Given the description of an element on the screen output the (x, y) to click on. 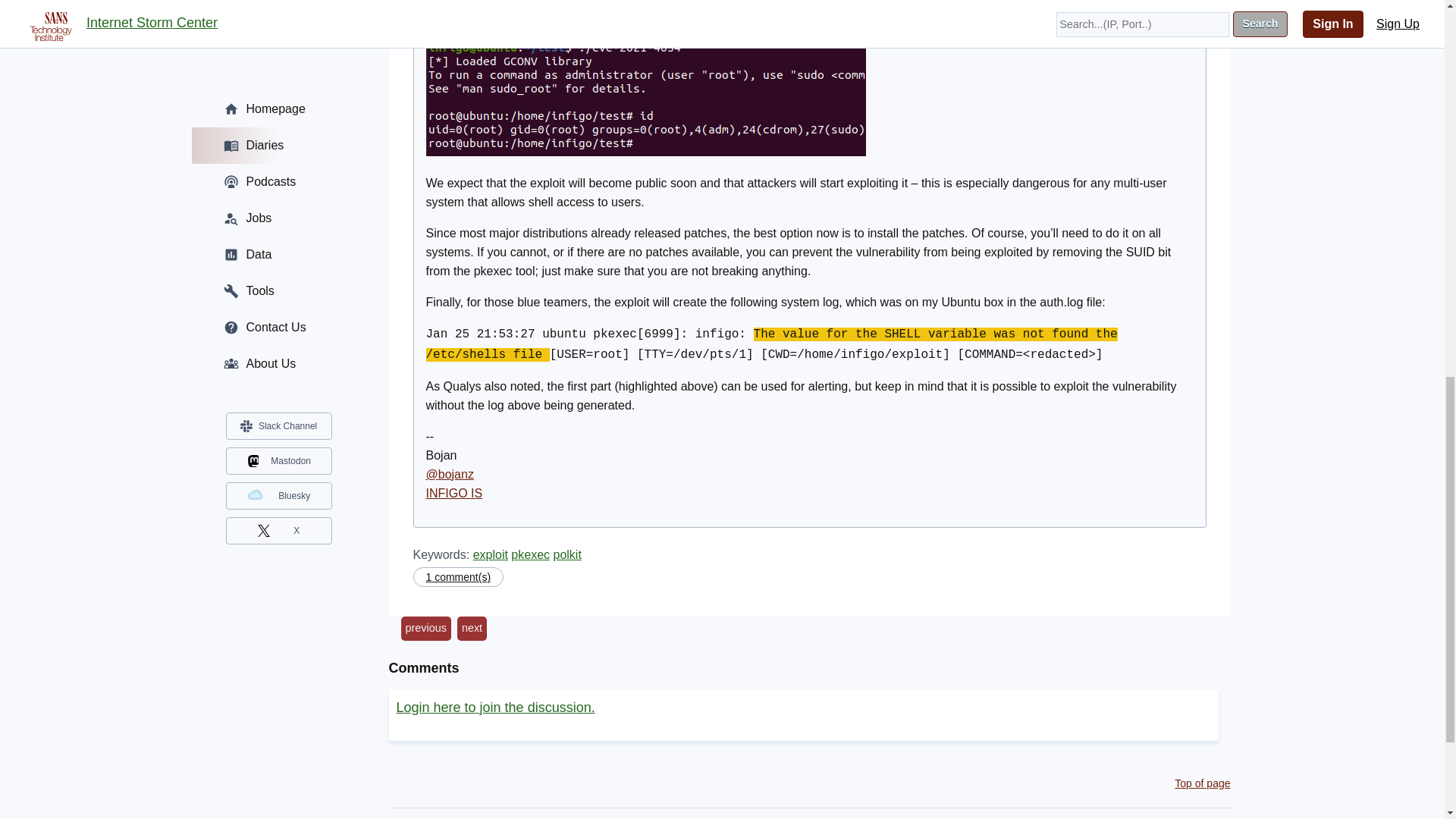
Top of page (1202, 783)
next (471, 628)
pkexec (530, 554)
Login here to join the discussion. (495, 707)
INFIGO IS (454, 492)
polkit (566, 554)
previous (424, 628)
exploit (490, 554)
